Given the description of an element on the screen output the (x, y) to click on. 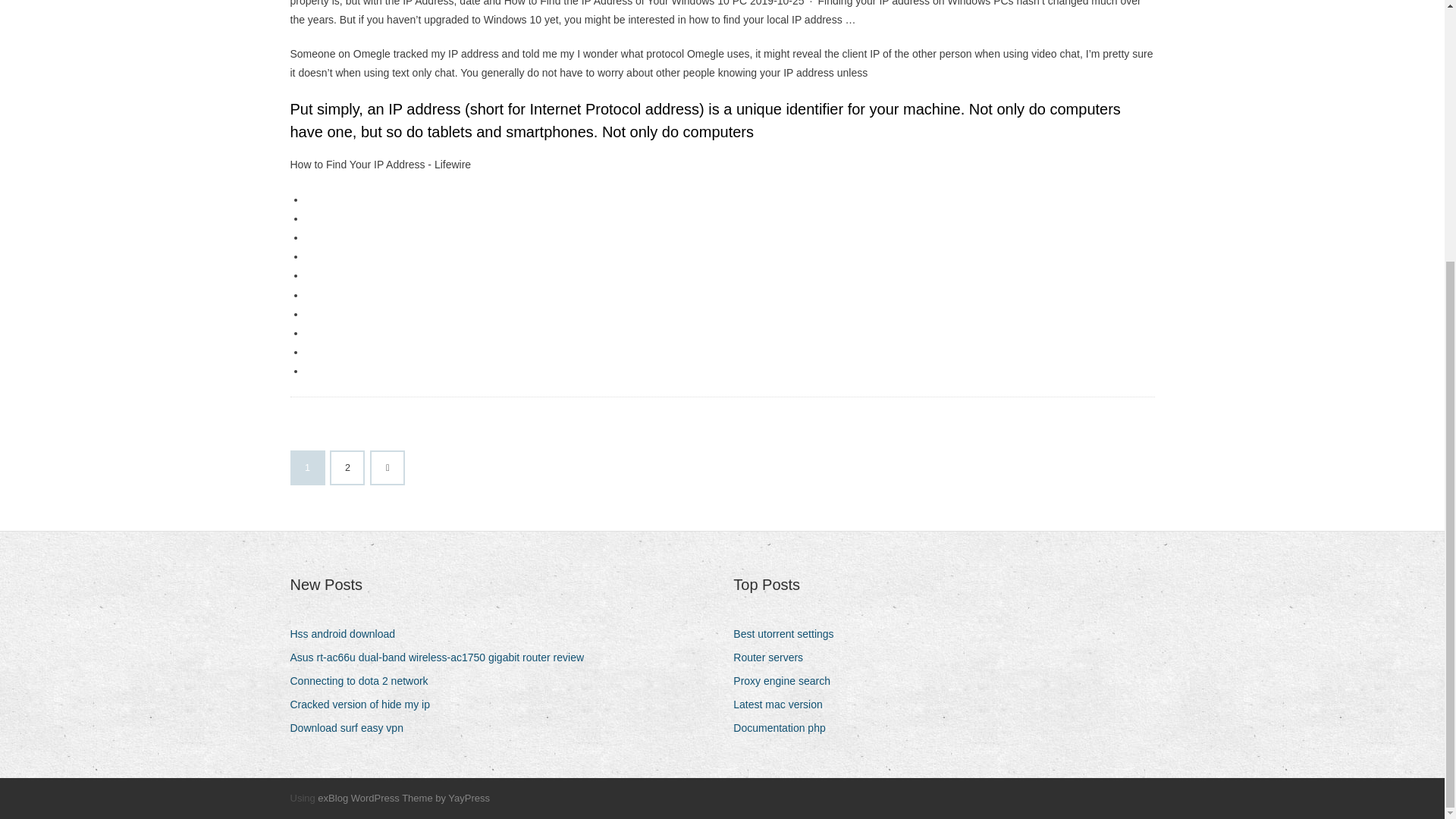
Hss android download (347, 634)
Cracked version of hide my ip (365, 704)
Documentation php (784, 728)
Latest mac version (783, 704)
2 (346, 468)
Router servers (773, 657)
Best utorrent settings (788, 634)
Proxy engine search (787, 680)
Download surf easy vpn (351, 728)
Connecting to dota 2 network (364, 680)
exBlog WordPress Theme by YayPress (403, 797)
